Given the description of an element on the screen output the (x, y) to click on. 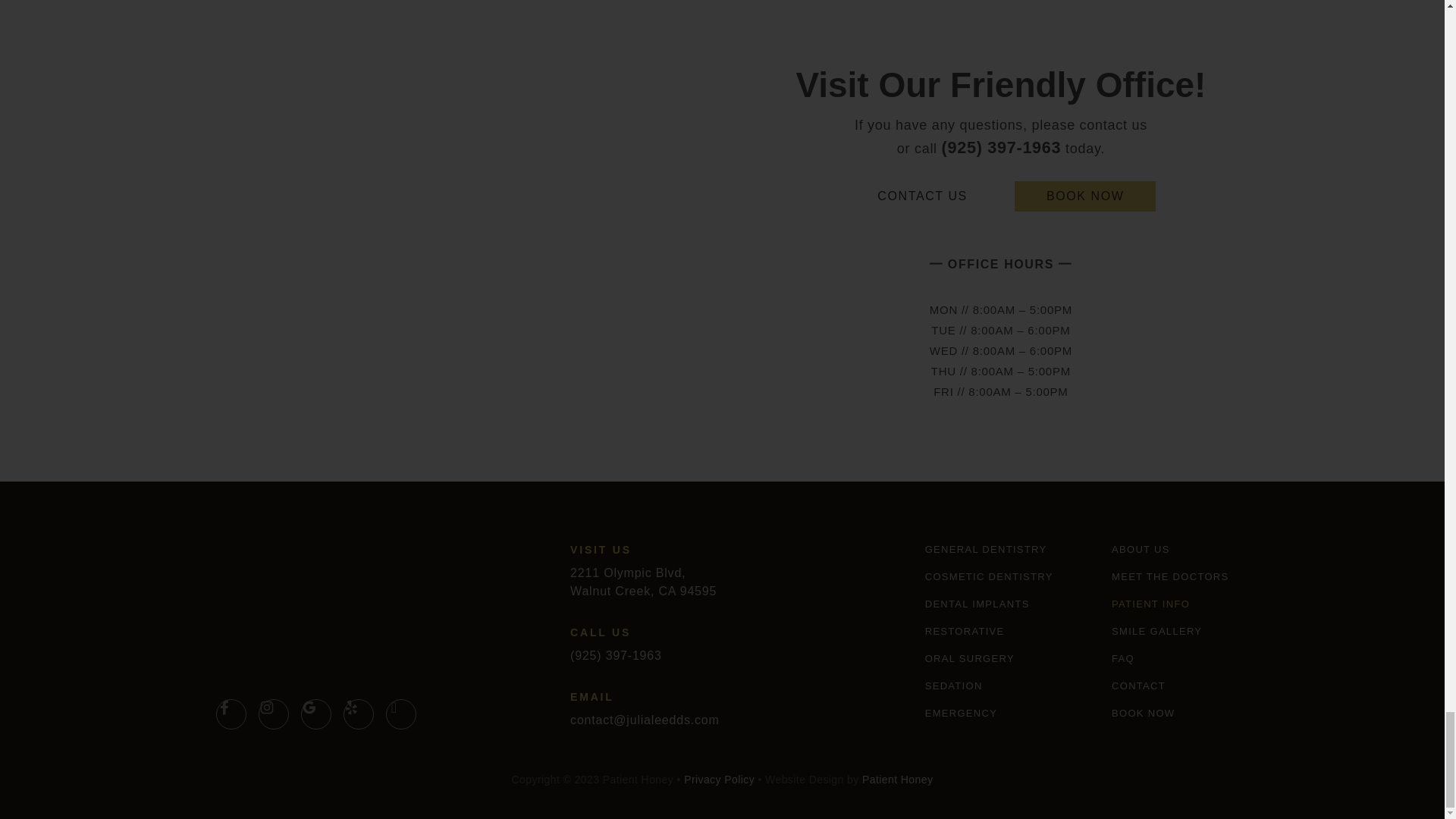
BOOK NOW (1085, 195)
CONTACT US (921, 195)
